Given the description of an element on the screen output the (x, y) to click on. 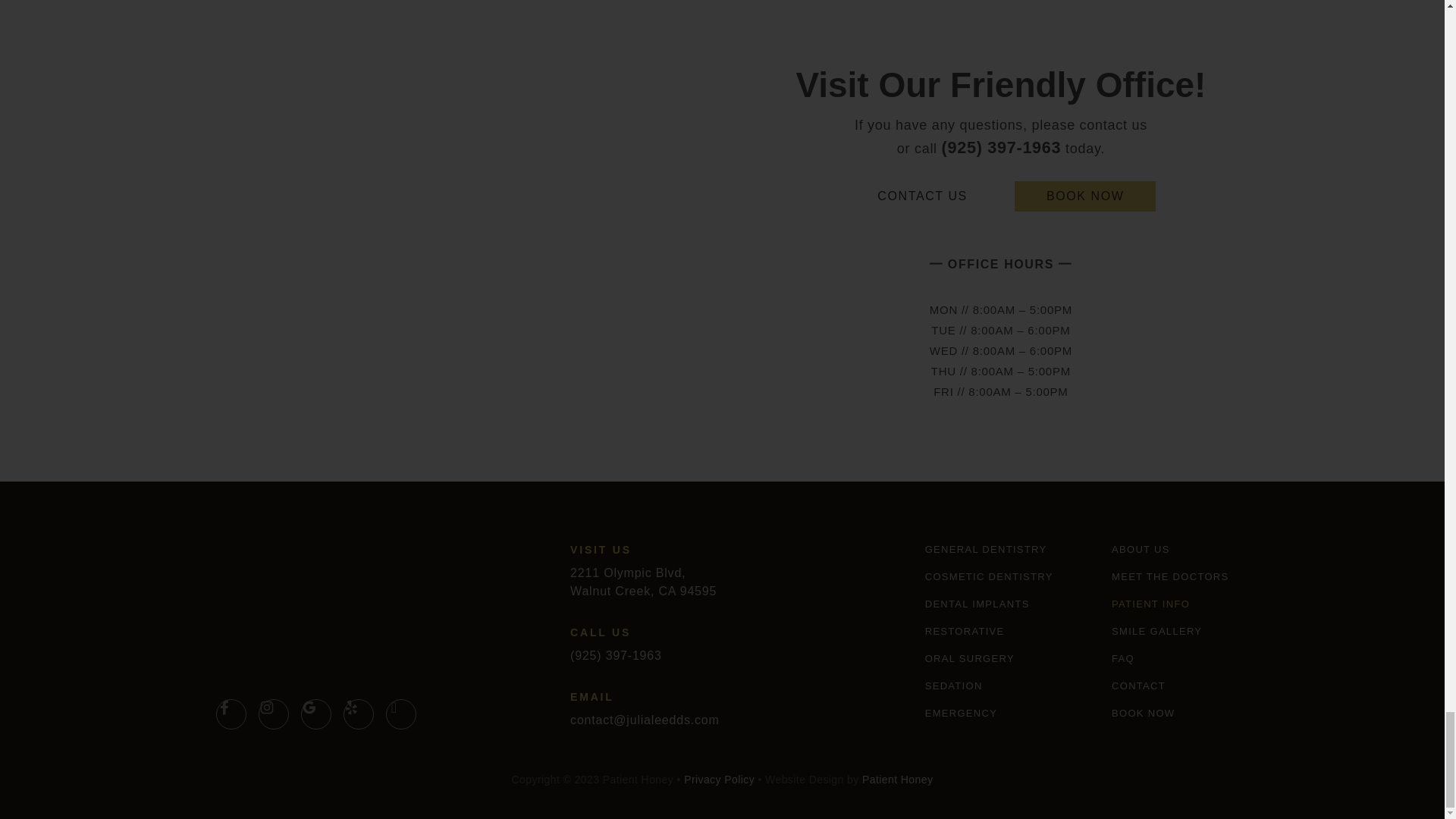
BOOK NOW (1085, 195)
CONTACT US (921, 195)
